Given the description of an element on the screen output the (x, y) to click on. 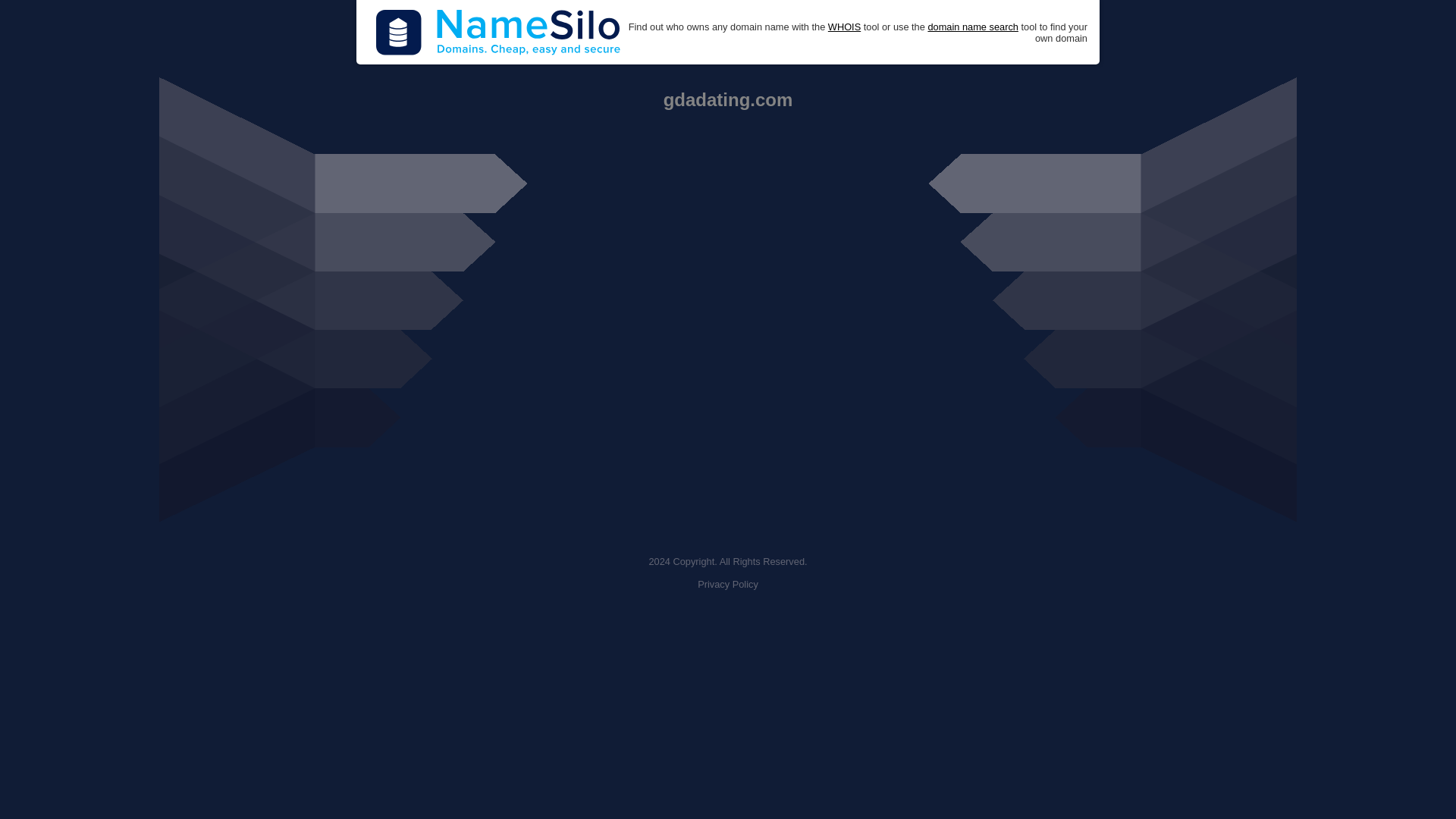
Privacy Policy (727, 583)
domain name search (972, 26)
WHOIS (844, 26)
